Given the description of an element on the screen output the (x, y) to click on. 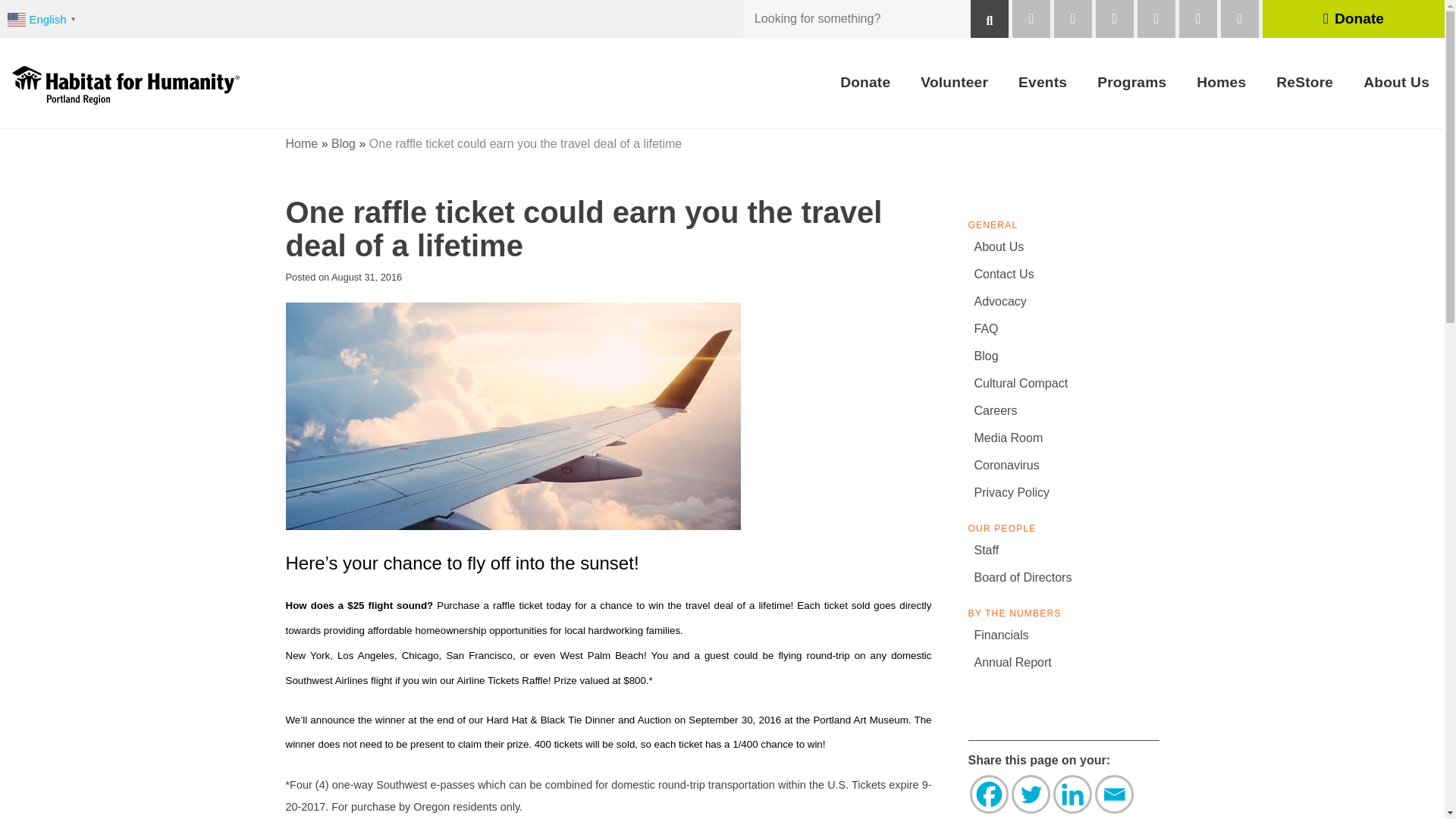
Events (1042, 82)
Facebook (988, 794)
Linkedin (1071, 794)
Donate (865, 82)
Email (1114, 794)
Twitter (1030, 794)
Volunteer (954, 82)
